Given the description of an element on the screen output the (x, y) to click on. 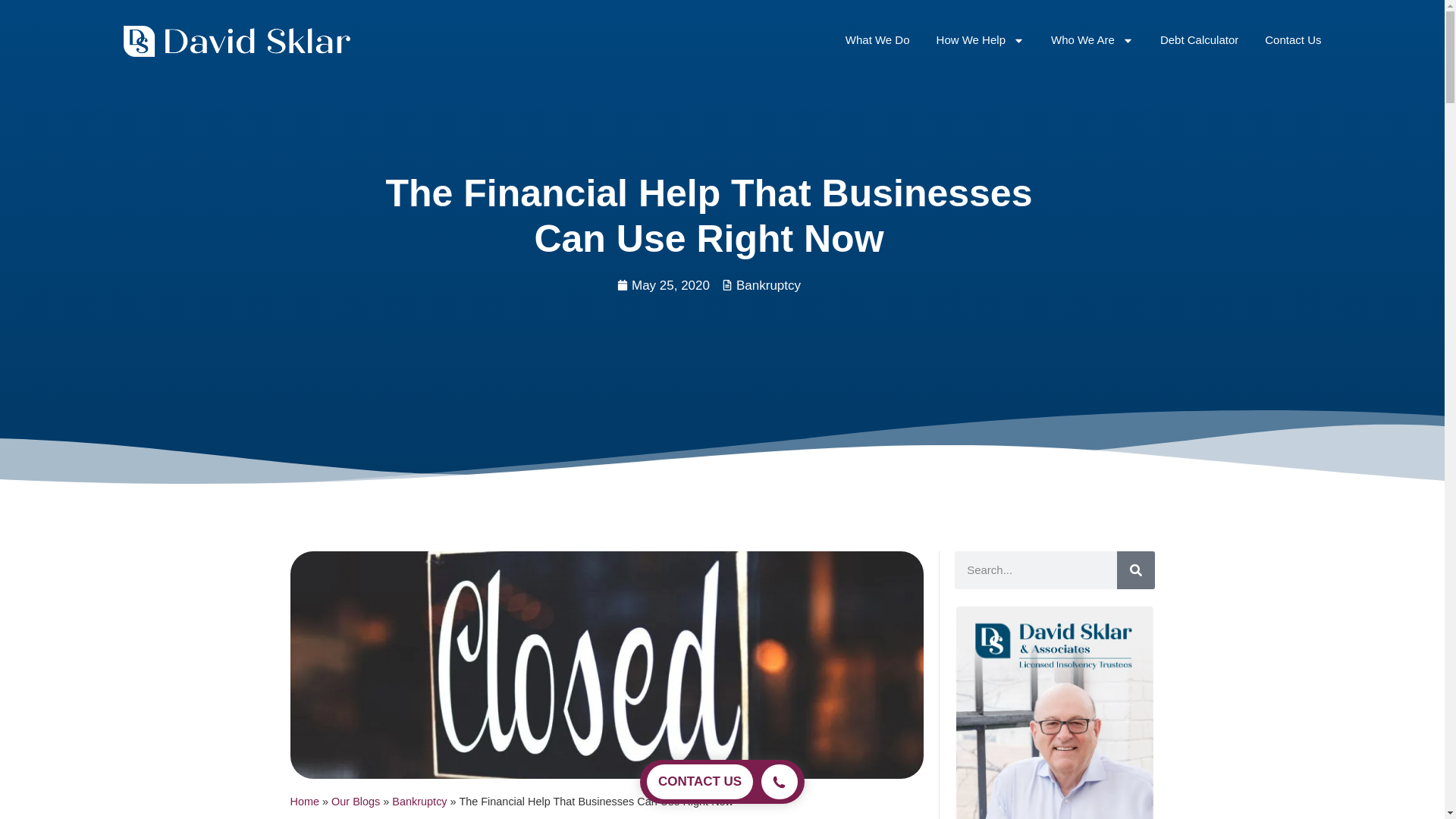
What We Do (877, 39)
How We Help (980, 39)
Debt Calculator (1199, 39)
Who We Are (1092, 39)
Contact Us (1292, 39)
May 25, 2020 (663, 285)
Bankruptcy (768, 285)
